Given the description of an element on the screen output the (x, y) to click on. 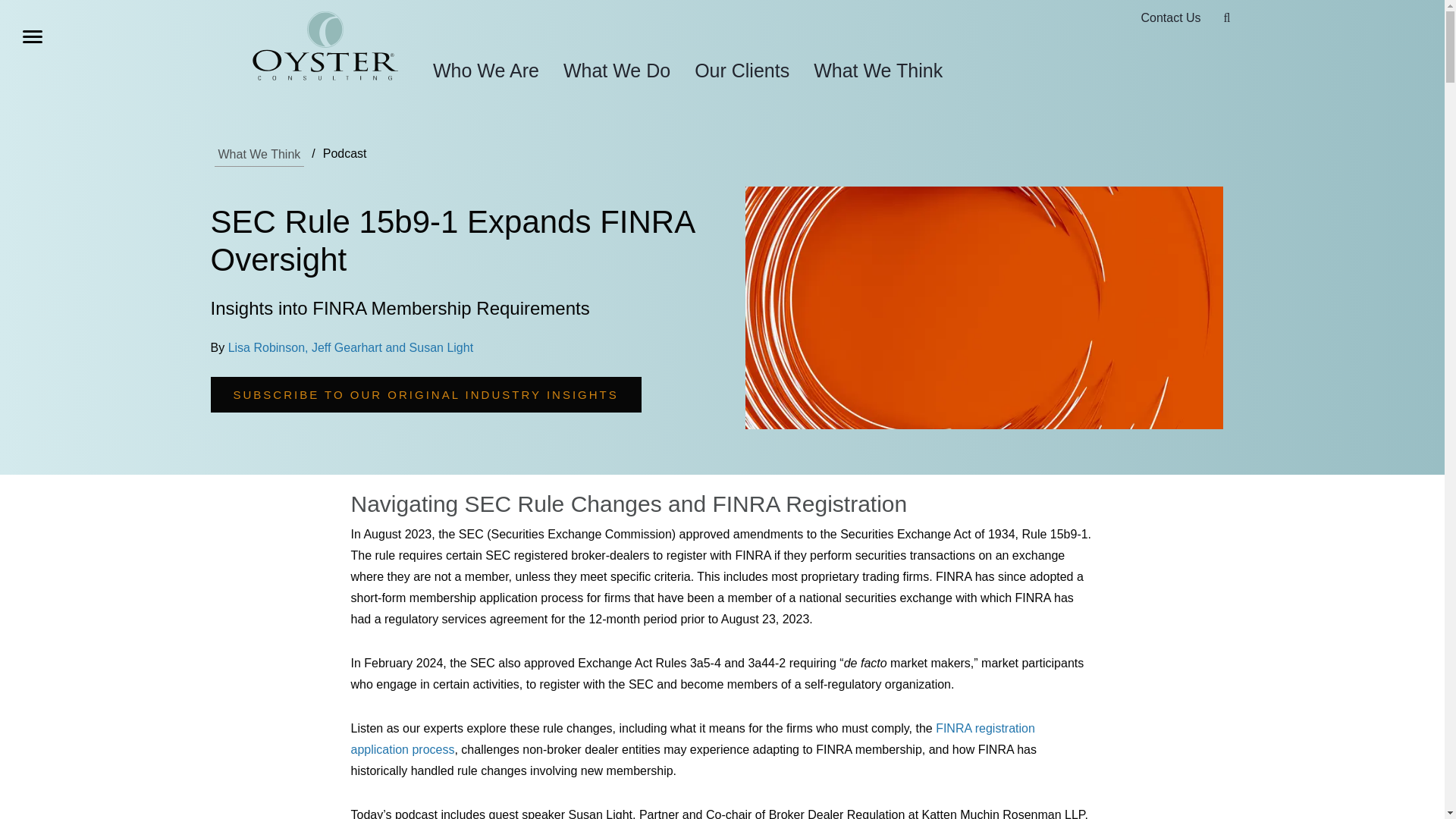
Contact Us (1170, 17)
Who We Are (485, 69)
Oyster LLC Logo (324, 48)
What We Do (616, 69)
Search The Site (1226, 17)
Oyster LLC Logo (324, 45)
